Given the description of an element on the screen output the (x, y) to click on. 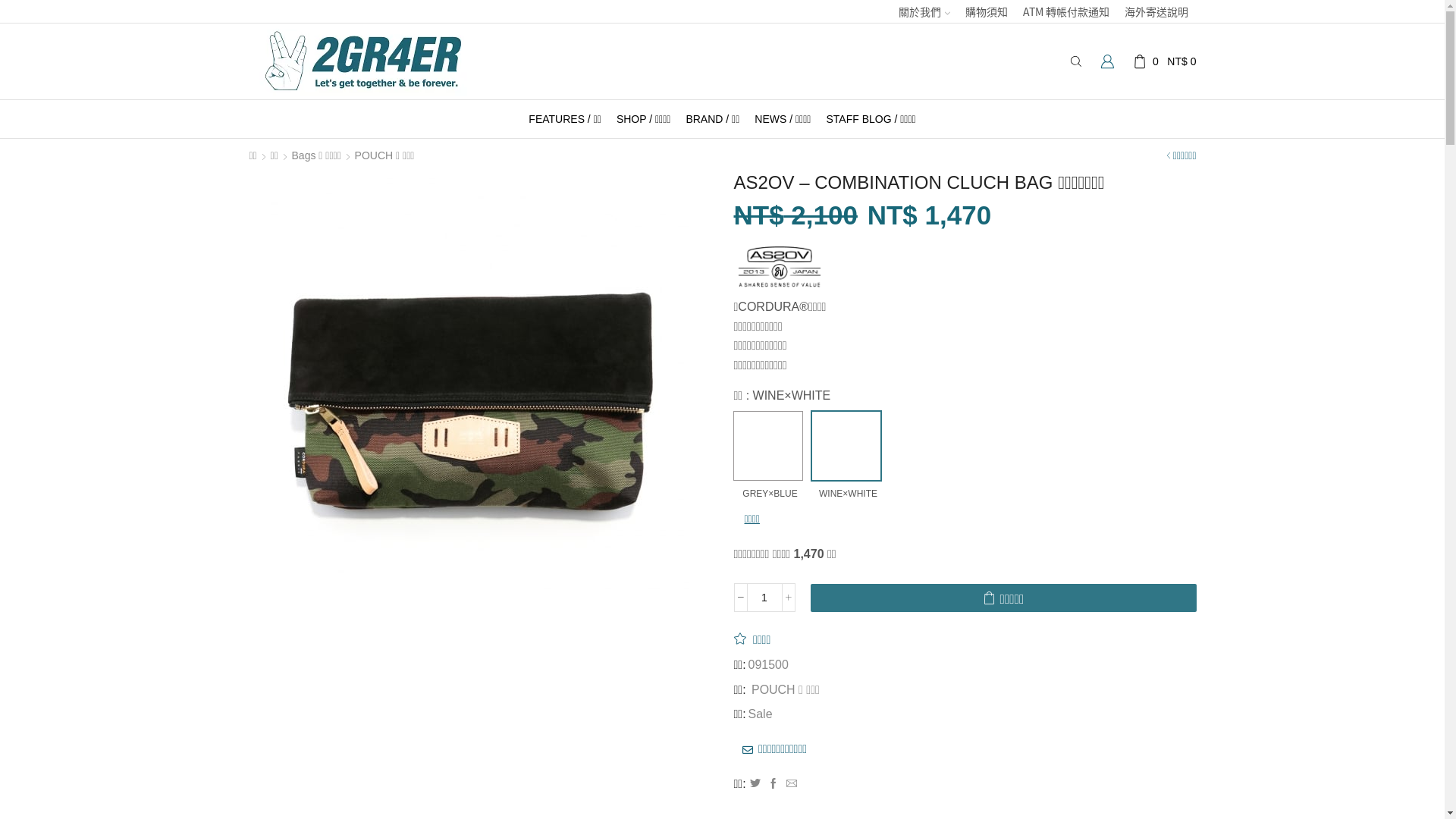
Mail to friend Element type: hover (789, 784)
84811363_o1 Element type: hover (479, 380)
Facebook Element type: hover (773, 784)
Twitter Element type: hover (755, 784)
0
NT$ 0 Element type: text (1163, 60)
Sale Element type: text (759, 714)
